Given the description of an element on the screen output the (x, y) to click on. 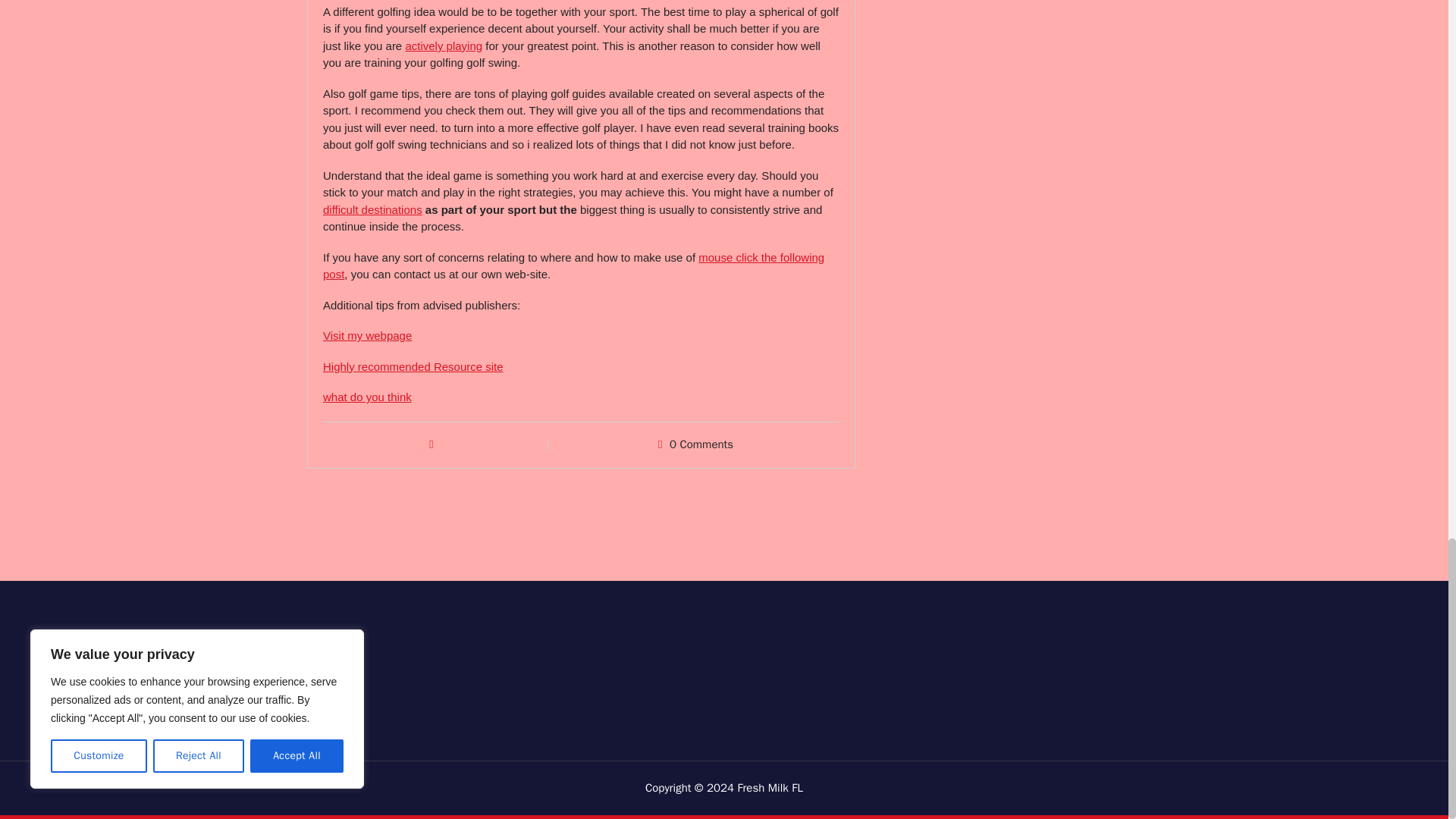
Visit my webpage (367, 335)
Highly recommended Resource site (413, 366)
actively playing (442, 45)
mouse click the following post (573, 265)
difficult destinations (372, 209)
